Given the description of an element on the screen output the (x, y) to click on. 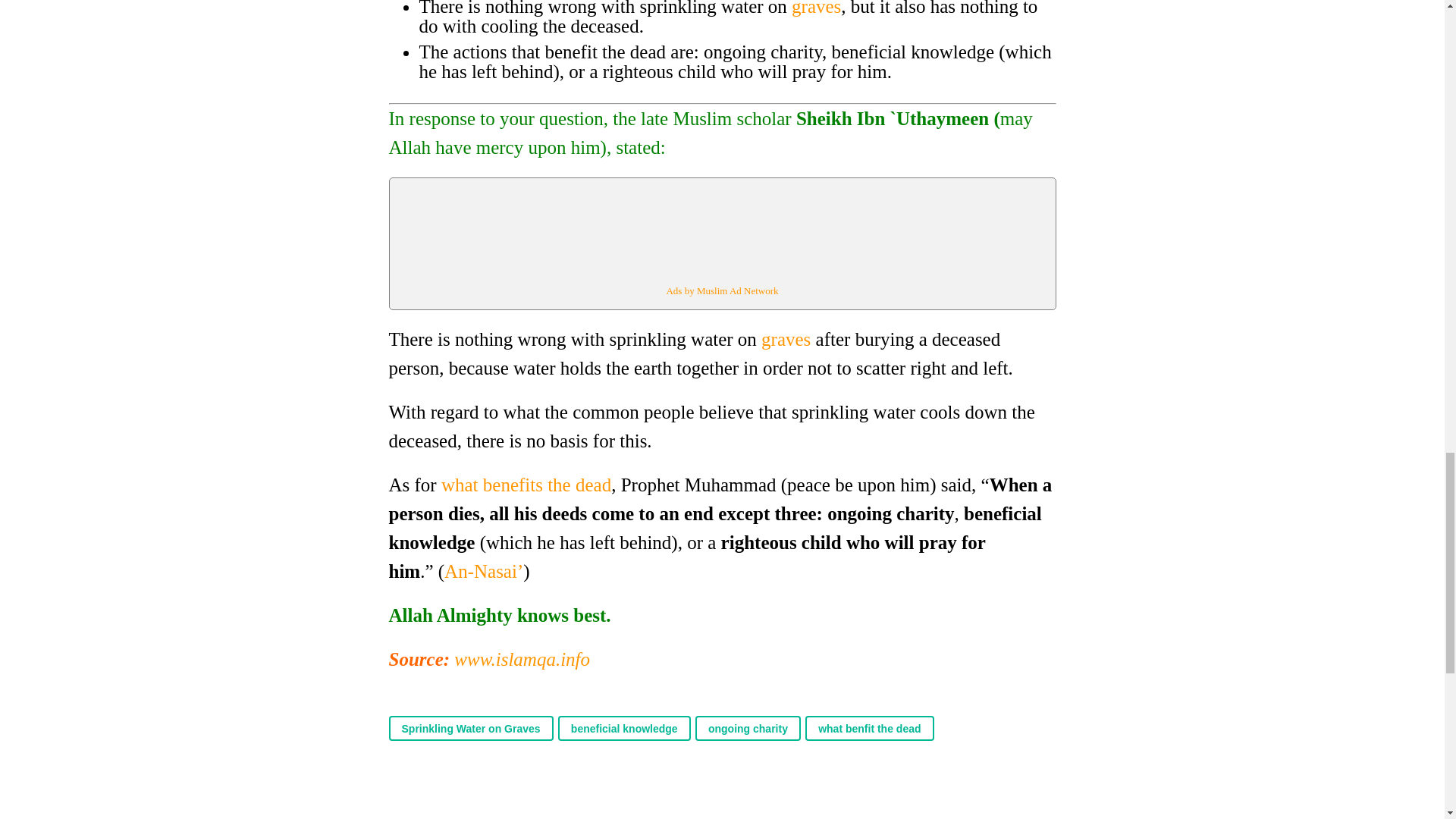
Advertise and Market to Muslims (721, 290)
www.islamqa.info (521, 659)
beneficial knowledge (623, 728)
Sprinkling Water on Graves Tag (470, 728)
Sprinkling Water on Graves (470, 728)
what benfit the dead (869, 728)
ongoing charity Tag (747, 728)
what benfit the dead Tag (869, 728)
Ads by Muslim Ad Network (721, 290)
beneficial knowledge Tag (623, 728)
what benefits the dead (526, 485)
ongoing charity (747, 728)
graves (816, 8)
graves (788, 339)
